Given the description of an element on the screen output the (x, y) to click on. 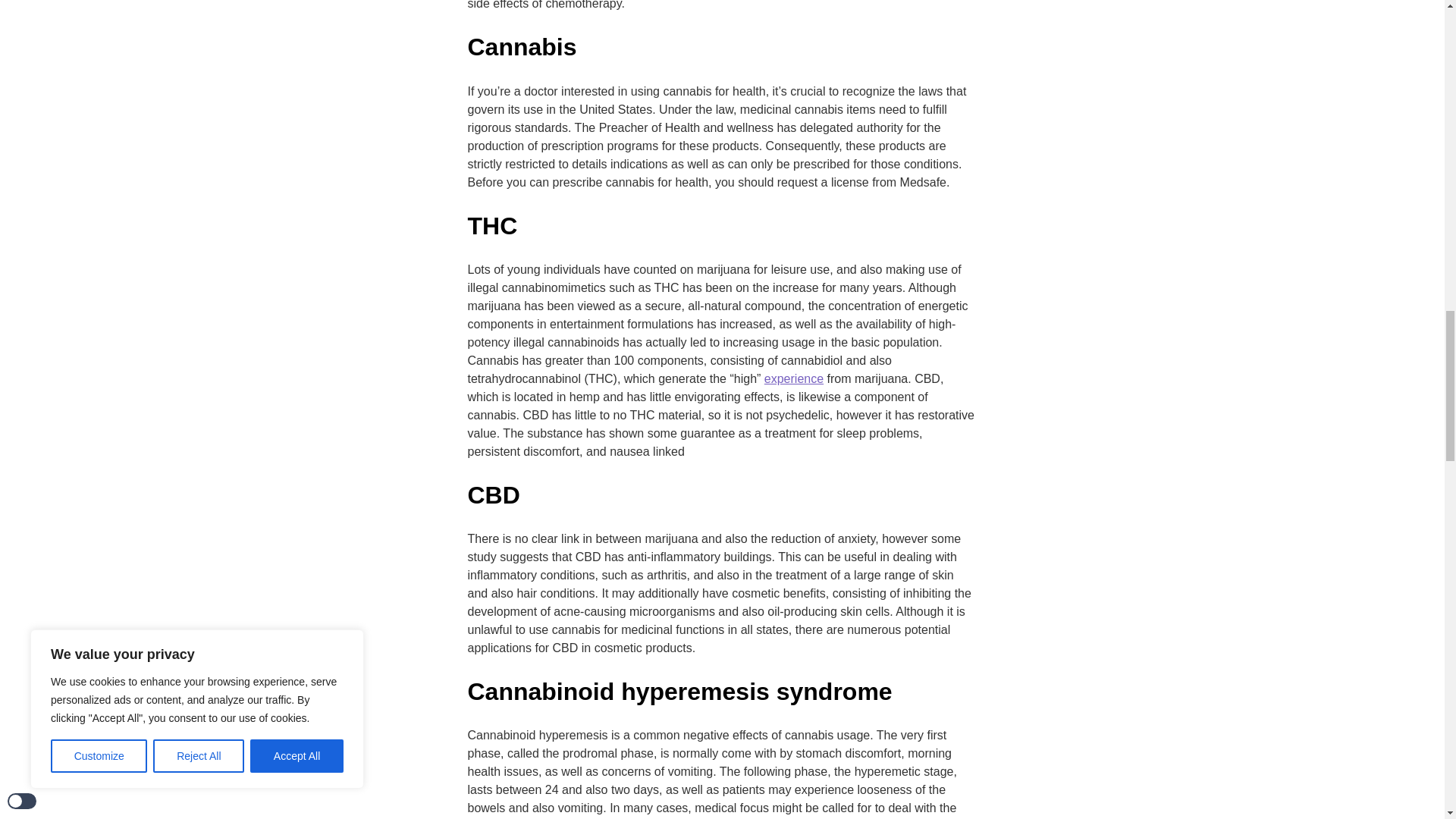
experience (794, 379)
